Given the description of an element on the screen output the (x, y) to click on. 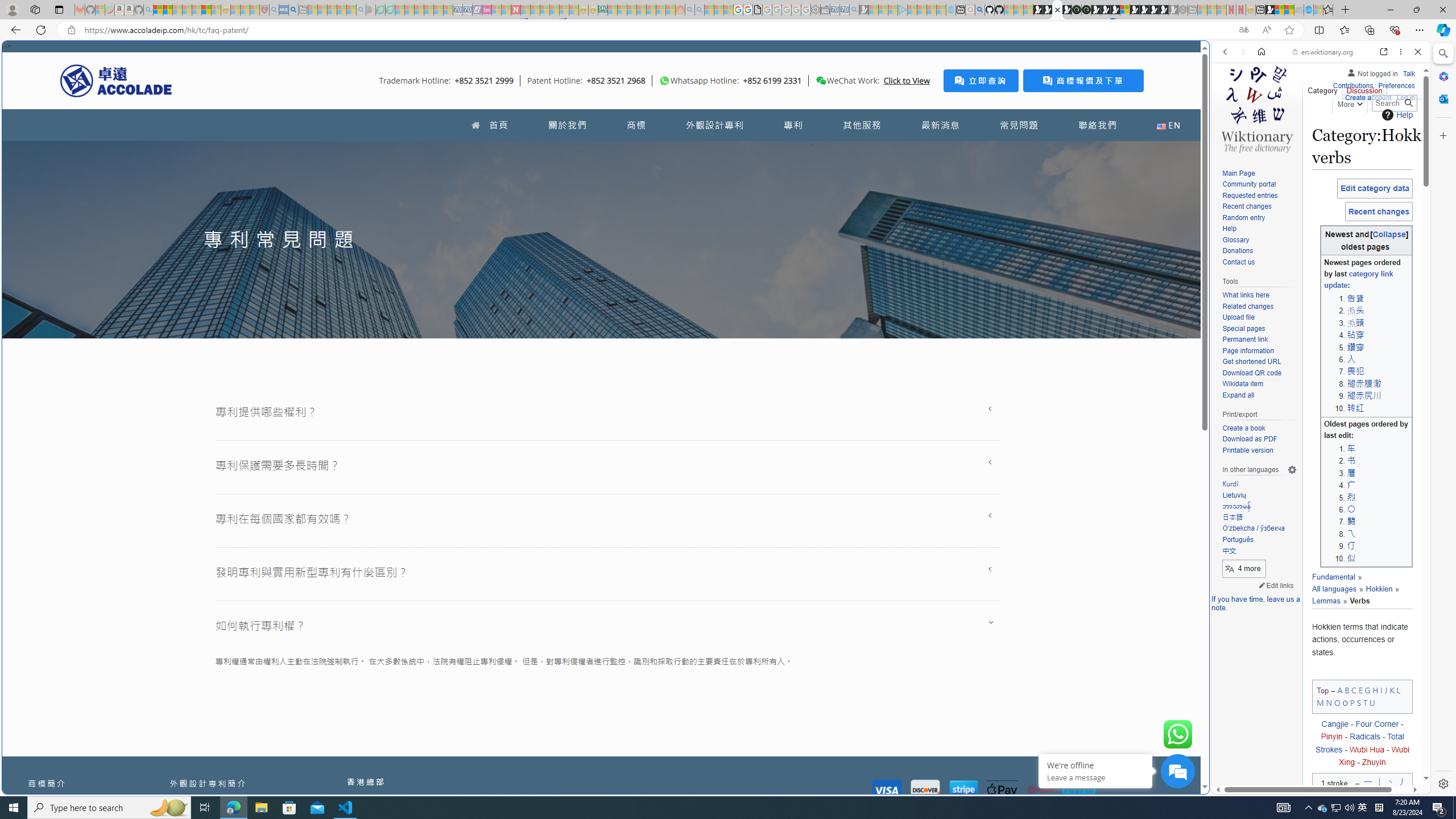
H (1375, 689)
Requested entries (1259, 196)
Zhuyin (1373, 762)
Glossary (1259, 240)
